Given the description of an element on the screen output the (x, y) to click on. 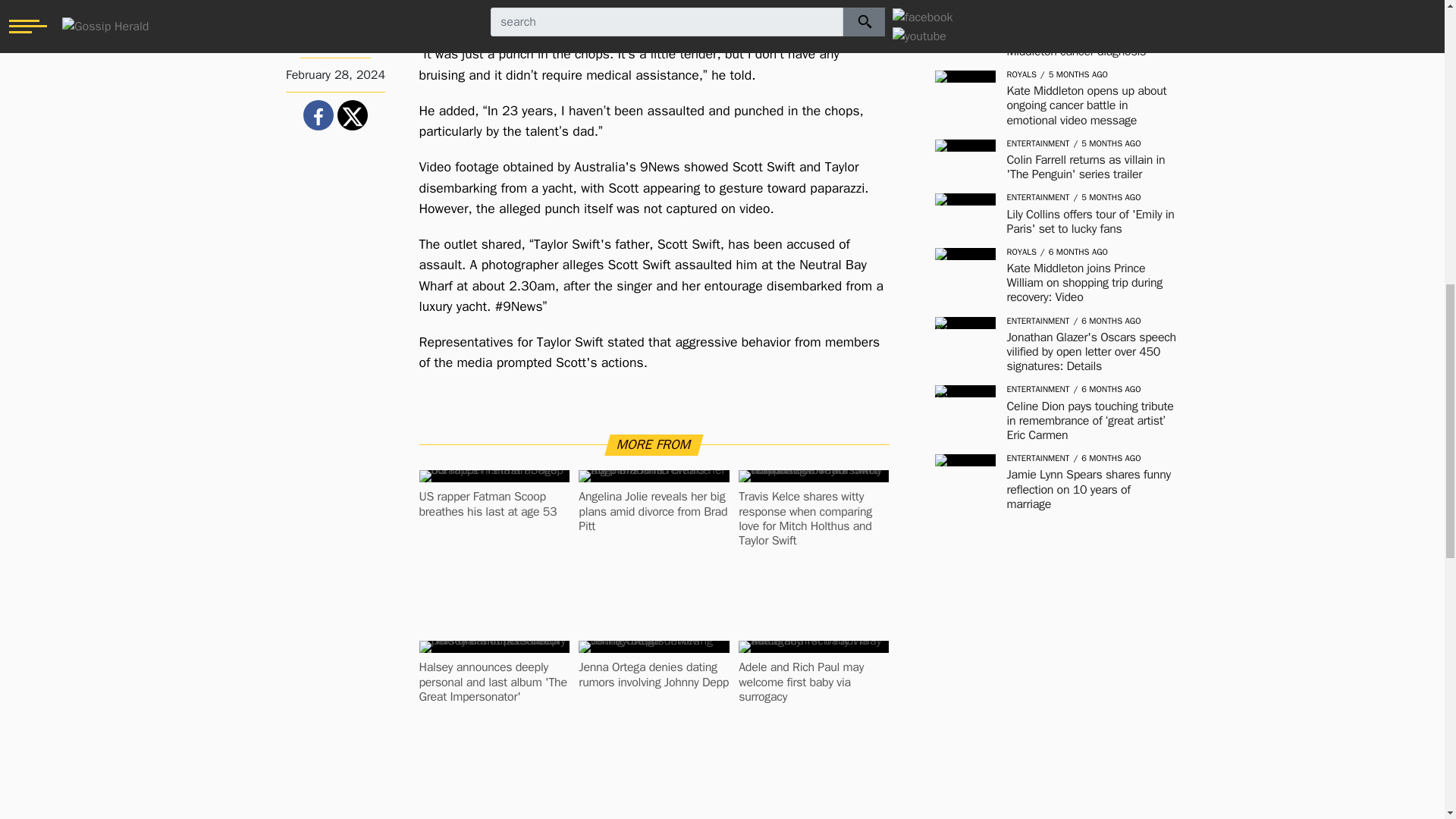
US rapper Fatman Scoop breathes his last at age 53 (494, 503)
Adele and Rich Paul may welcome first baby via surrogacy (813, 682)
Jenna Ortega denies dating rumors involving Johnny Depp (653, 674)
